Given the description of an element on the screen output the (x, y) to click on. 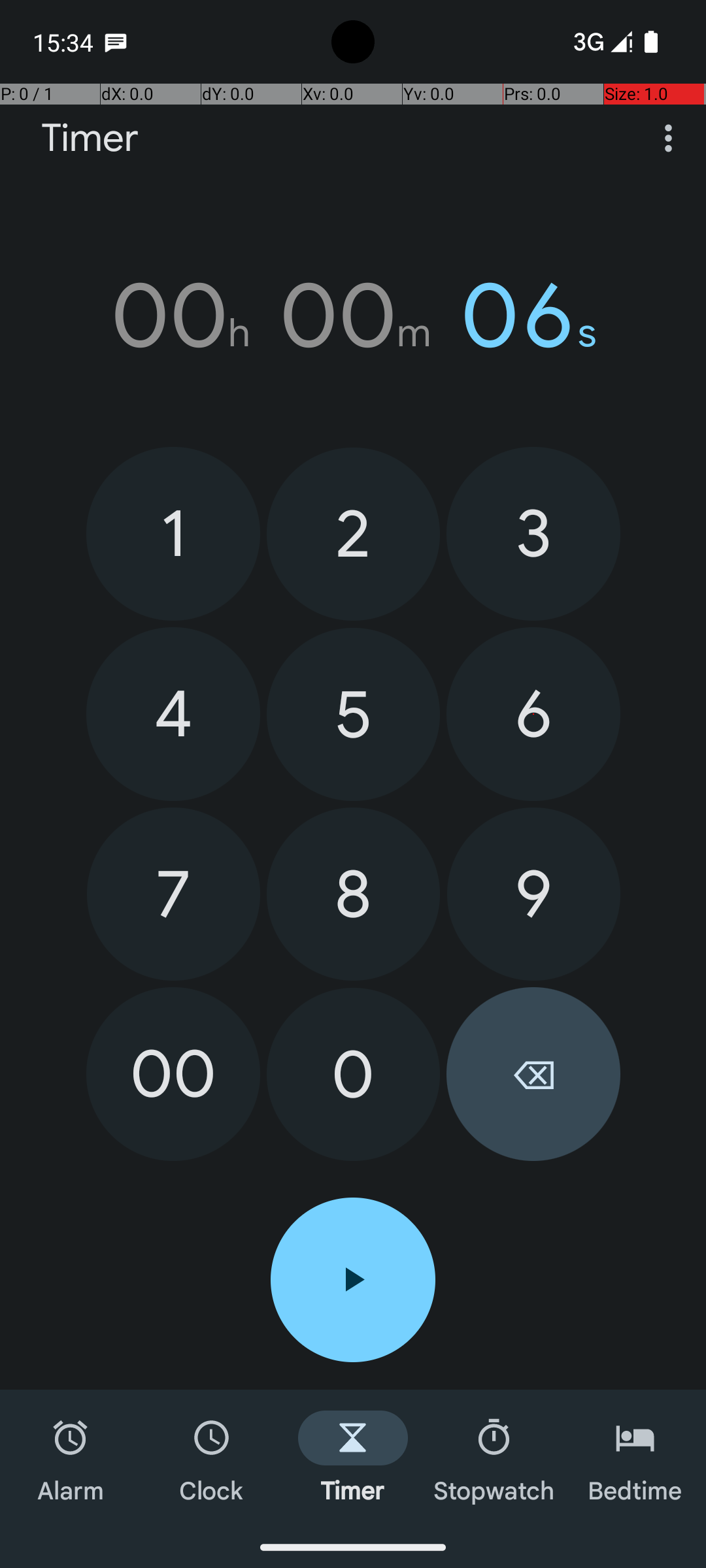
00h 00m 06s Element type: android.widget.TextView (353, 315)
